Given the description of an element on the screen output the (x, y) to click on. 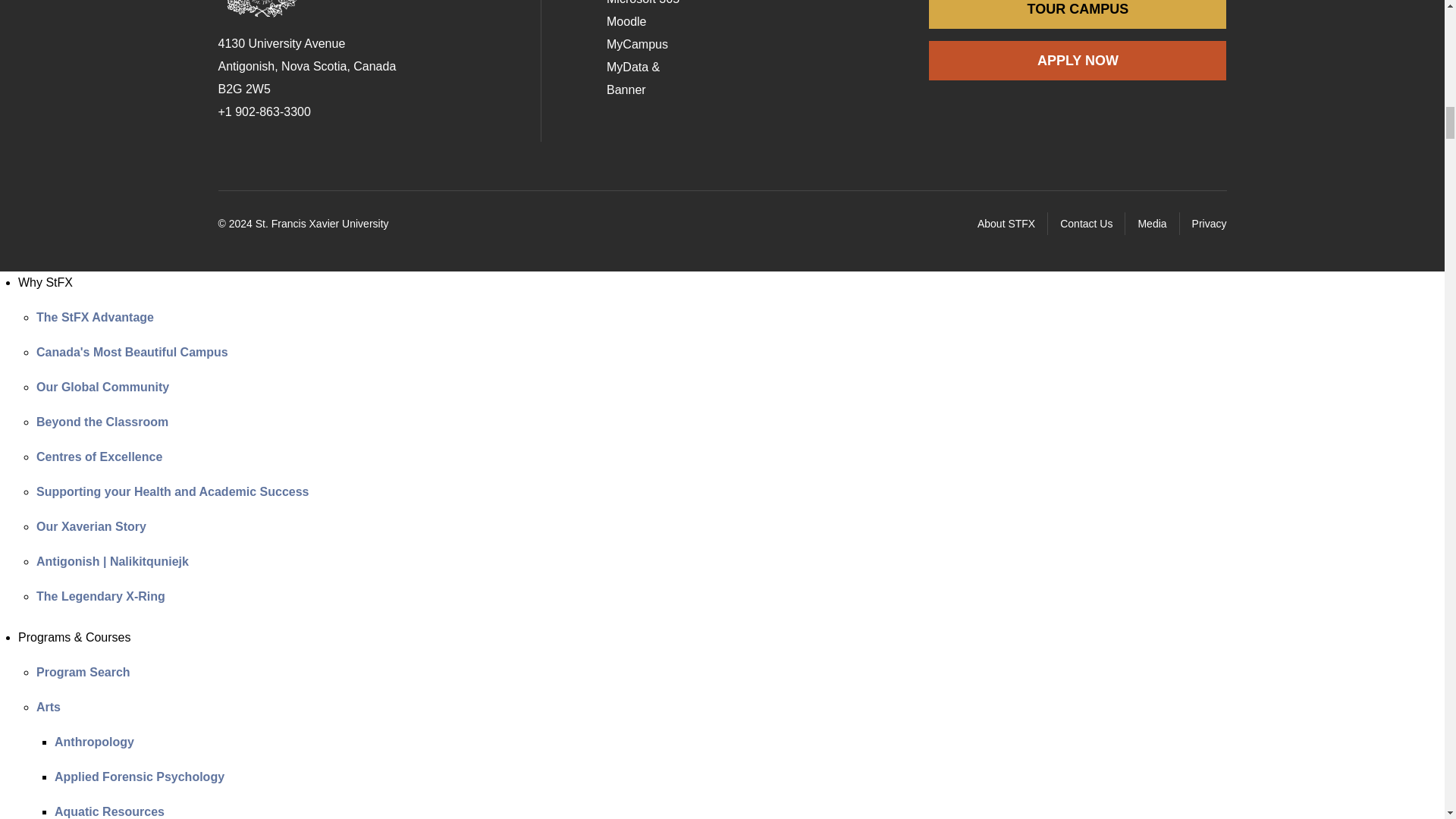
Anthropology (94, 741)
Applied Forensic Psychology (139, 776)
Aquatic Resources (109, 811)
